Given the description of an element on the screen output the (x, y) to click on. 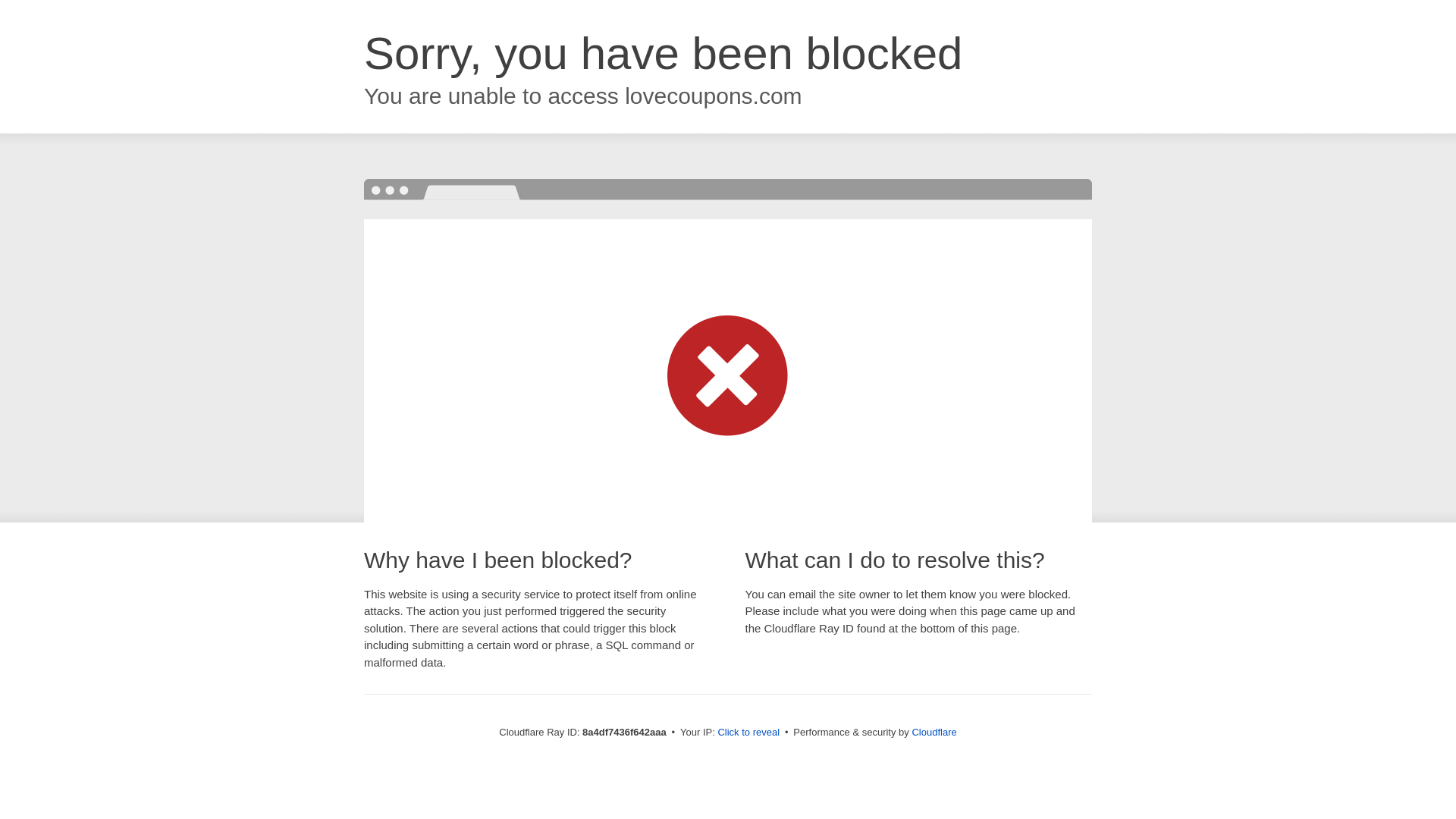
Cloudflare (933, 731)
Click to reveal (747, 732)
